Given the description of an element on the screen output the (x, y) to click on. 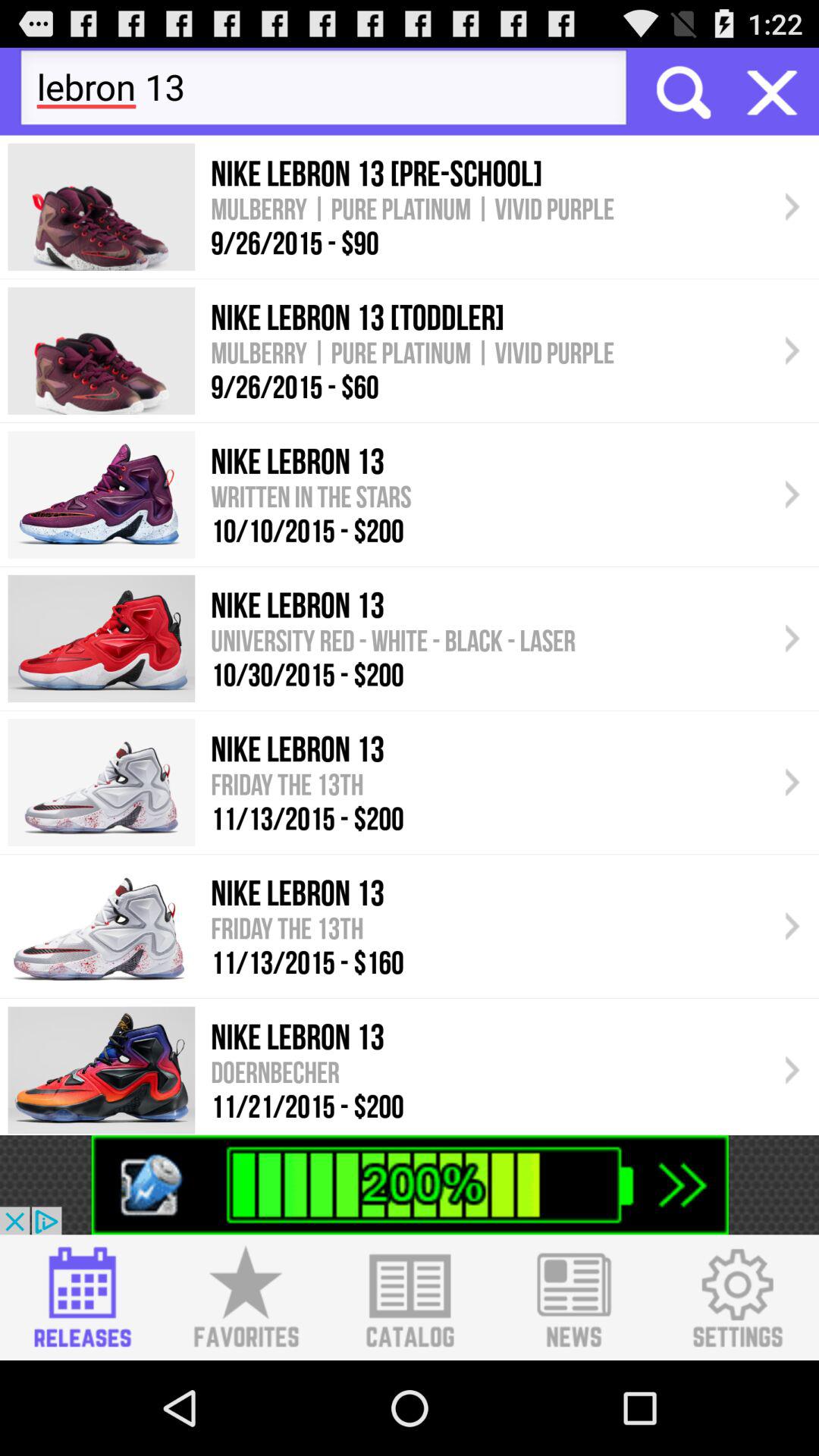
go to news tab (573, 1297)
